Given the description of an element on the screen output the (x, y) to click on. 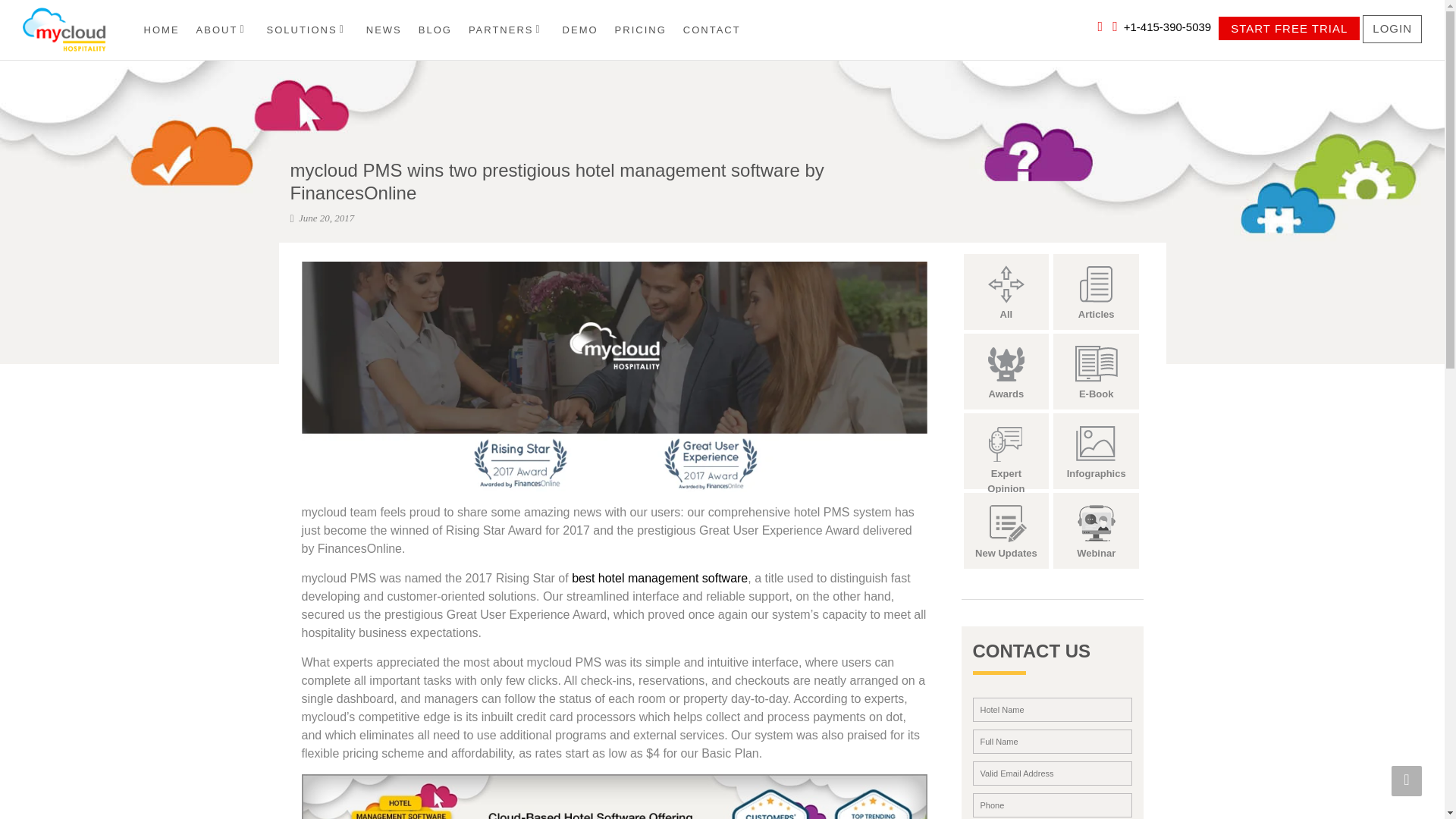
Solutions (307, 30)
LOGIN (1392, 29)
best hotel management software (660, 577)
ABOUT (223, 30)
PARTNERS (507, 30)
CONTACT (711, 30)
START FREE TRIAL (1288, 28)
SOLUTIONS (307, 30)
About (223, 30)
PRICING (640, 30)
